Given the description of an element on the screen output the (x, y) to click on. 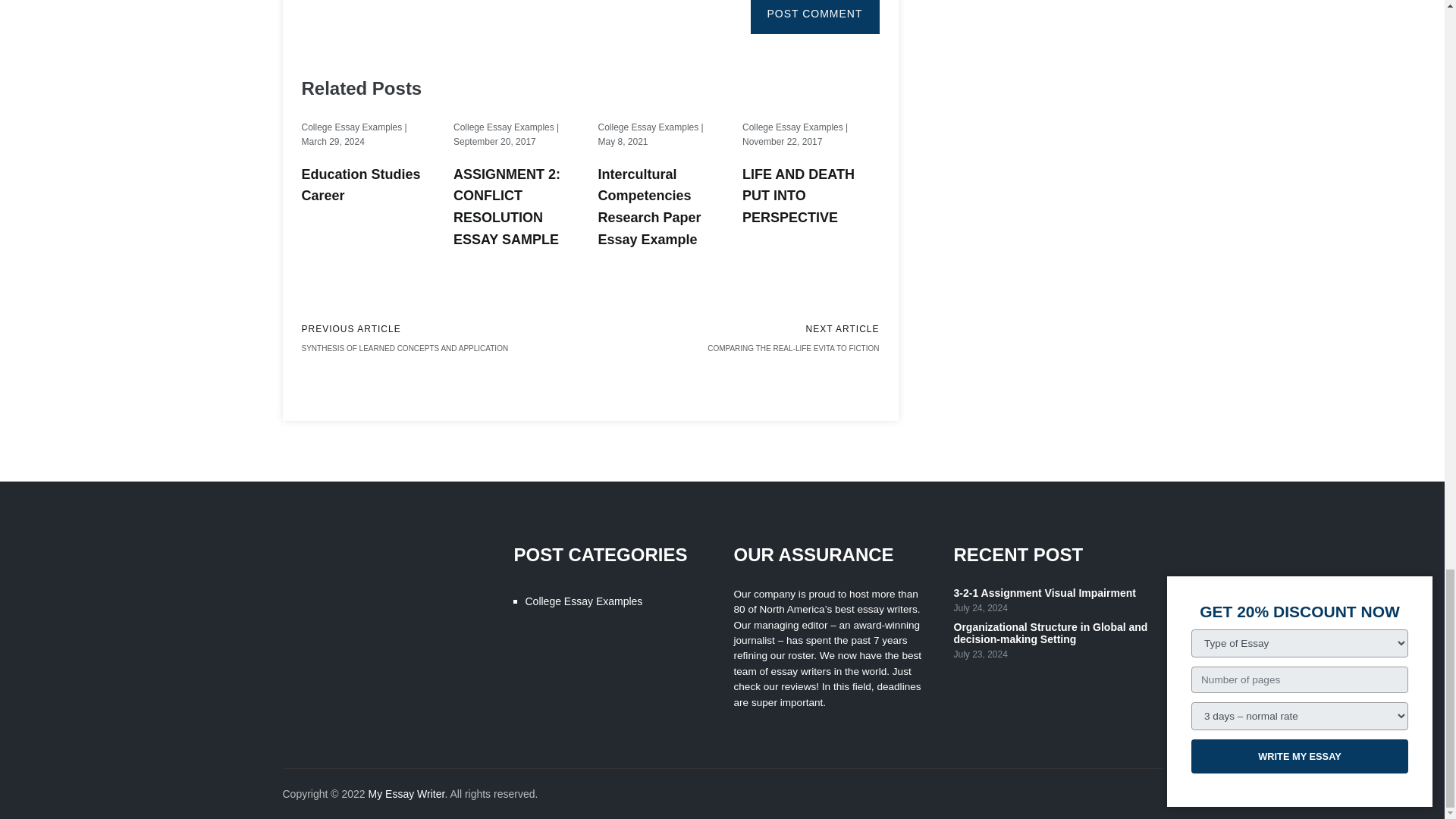
Post Comment (815, 17)
Post Comment (815, 17)
